Given the description of an element on the screen output the (x, y) to click on. 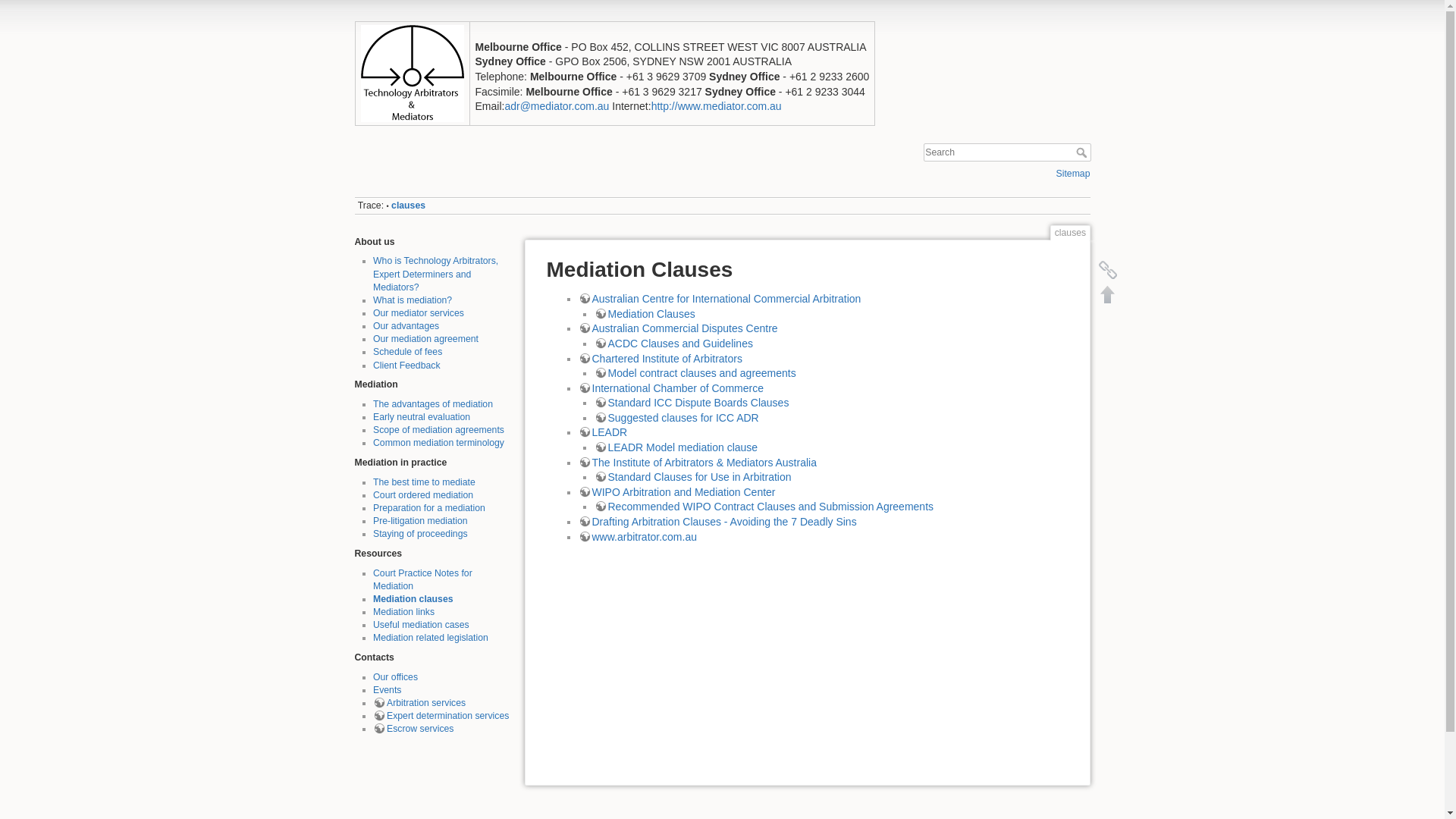
Mediation Clauses Element type: text (644, 313)
ACDC Clauses and Guidelines Element type: text (673, 343)
Useful mediation cases Element type: text (421, 624)
Arbitration services Element type: text (419, 702)
Drafting Arbitration Clauses - Avoiding the 7 Deadly Sins Element type: text (716, 521)
Recommended WIPO Contract Clauses and Submission Agreements Element type: text (764, 506)
Standard Clauses for Use in Arbitration Element type: text (692, 476)
Australian Commercial Disputes Centre Element type: text (677, 328)
LEADR Model mediation clause Element type: text (676, 447)
Backlinks Element type: hover (1107, 269)
Suggested clauses for ICC ADR Element type: text (676, 417)
Pre-litigation mediation Element type: text (420, 520)
Back to top [T] Element type: hover (1107, 294)
Our advantages Element type: text (406, 325)
Preparation for a mediation Element type: text (429, 507)
adr@mediator.com.au Element type: text (556, 106)
Search Element type: text (1082, 152)
Escrow services Element type: text (413, 728)
Standard ICC Dispute Boards Clauses Element type: text (691, 402)
Expert determination services Element type: text (440, 715)
www.arbitrator.com.au Element type: text (636, 536)
Our offices Element type: text (395, 676)
Mediation clauses Element type: text (413, 598)
The advantages of mediation Element type: text (432, 403)
Scope of mediation agreements Element type: text (438, 429)
Common mediation terminology Element type: text (438, 442)
[F] Element type: hover (1007, 152)
Australian Centre for International Commercial Arbitration Element type: text (718, 298)
Model contract clauses and agreements Element type: text (695, 373)
Mediation related legislation Element type: text (430, 637)
What is mediation? Element type: text (412, 299)
Mediation links Element type: text (403, 611)
Chartered Institute of Arbitrators Element type: text (659, 357)
Client Feedback Element type: text (406, 365)
The best time to mediate Element type: text (424, 481)
LEADR Element type: text (602, 432)
Early neutral evaluation Element type: text (421, 416)
clauses Element type: text (408, 205)
http://www.mediator.com.au Element type: text (716, 106)
Sitemap Element type: text (1073, 173)
Staying of proceedings Element type: text (420, 533)
Court ordered mediation Element type: text (423, 494)
Schedule of fees Element type: text (407, 351)
International Chamber of Commerce Element type: text (669, 388)
Court Practice Notes for Mediation Element type: text (422, 579)
Our mediator services Element type: text (418, 312)
WIPO Arbitration and Mediation Center Element type: text (676, 492)
Events Element type: text (387, 689)
The Institute of Arbitrators & Mediators Australia Element type: text (696, 462)
Our mediation agreement Element type: text (425, 338)
